Given the description of an element on the screen output the (x, y) to click on. 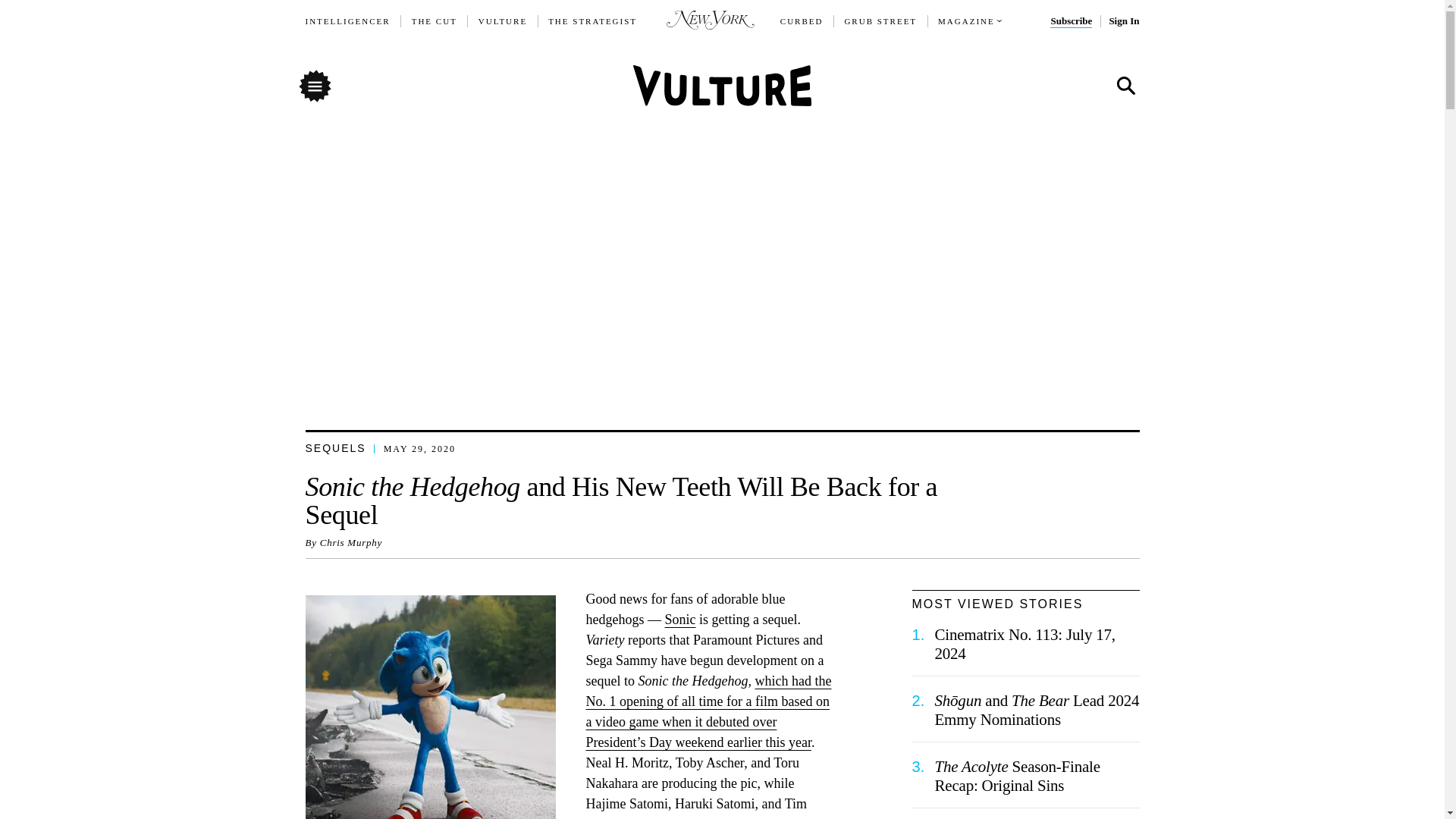
VULTURE (503, 21)
CURBED (802, 21)
GRUB STREET (880, 21)
MAGAZINE (965, 21)
Subscribe (1070, 21)
THE CUT (434, 21)
Search (1124, 86)
Sign In (1123, 21)
INTELLIGENCER (347, 21)
THE STRATEGIST (592, 21)
Menu (314, 84)
